Given the description of an element on the screen output the (x, y) to click on. 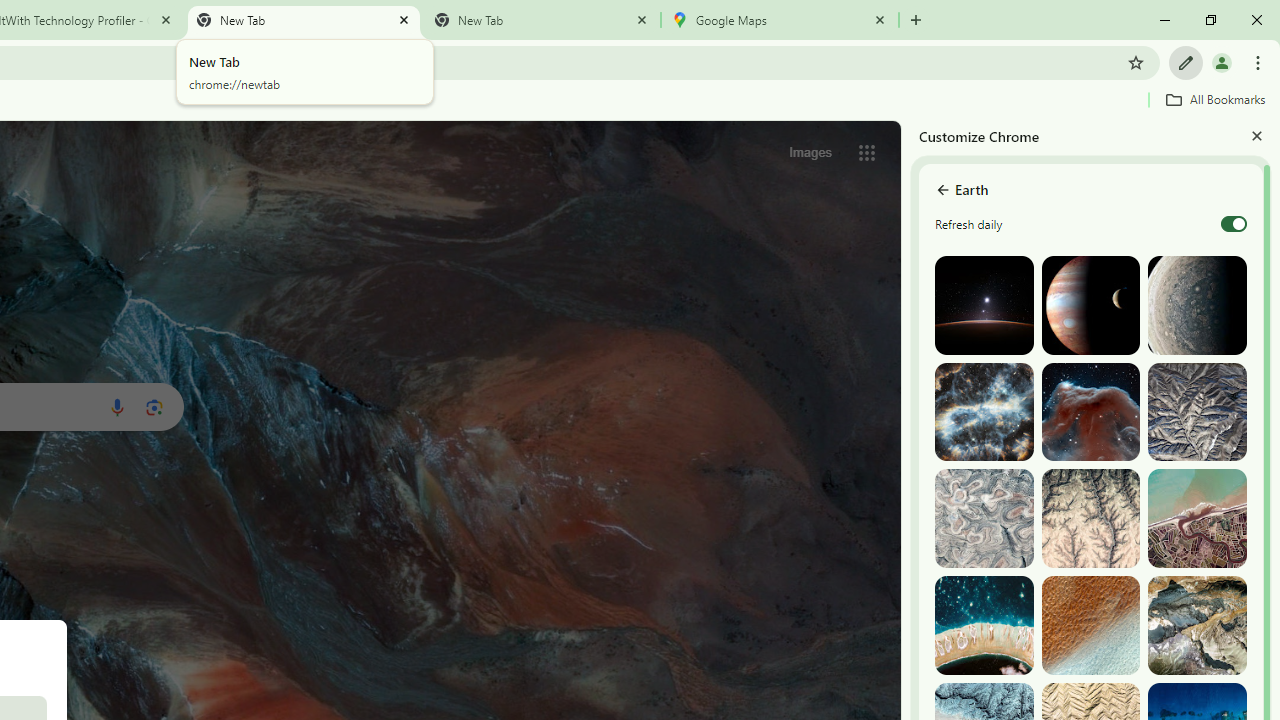
Photo by NASA Image Library (1090, 412)
Google Maps (779, 20)
Sanaag, Somalia (1090, 518)
Kelan, Shanxi, China (1197, 412)
The Tuamotu and Gambier Islands, French Polynesia (984, 625)
